Given the description of an element on the screen output the (x, y) to click on. 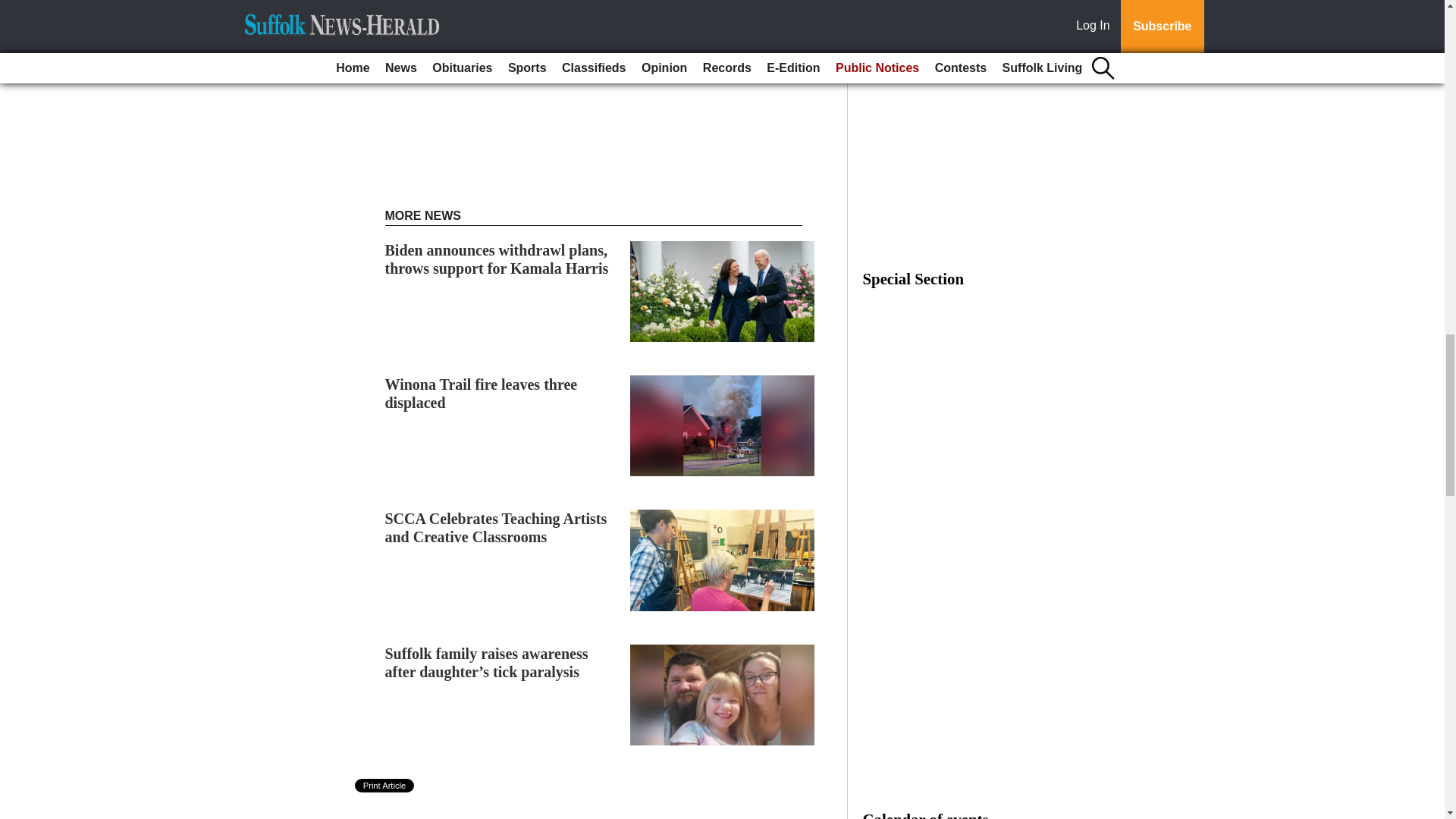
Winona Trail fire leaves three displaced (481, 393)
SCCA Celebrates Teaching Artists and Creative Classrooms (496, 527)
Winona Trail fire leaves three displaced (481, 393)
Print Article (384, 785)
SCCA Celebrates Teaching Artists and Creative Classrooms (496, 527)
